Given the description of an element on the screen output the (x, y) to click on. 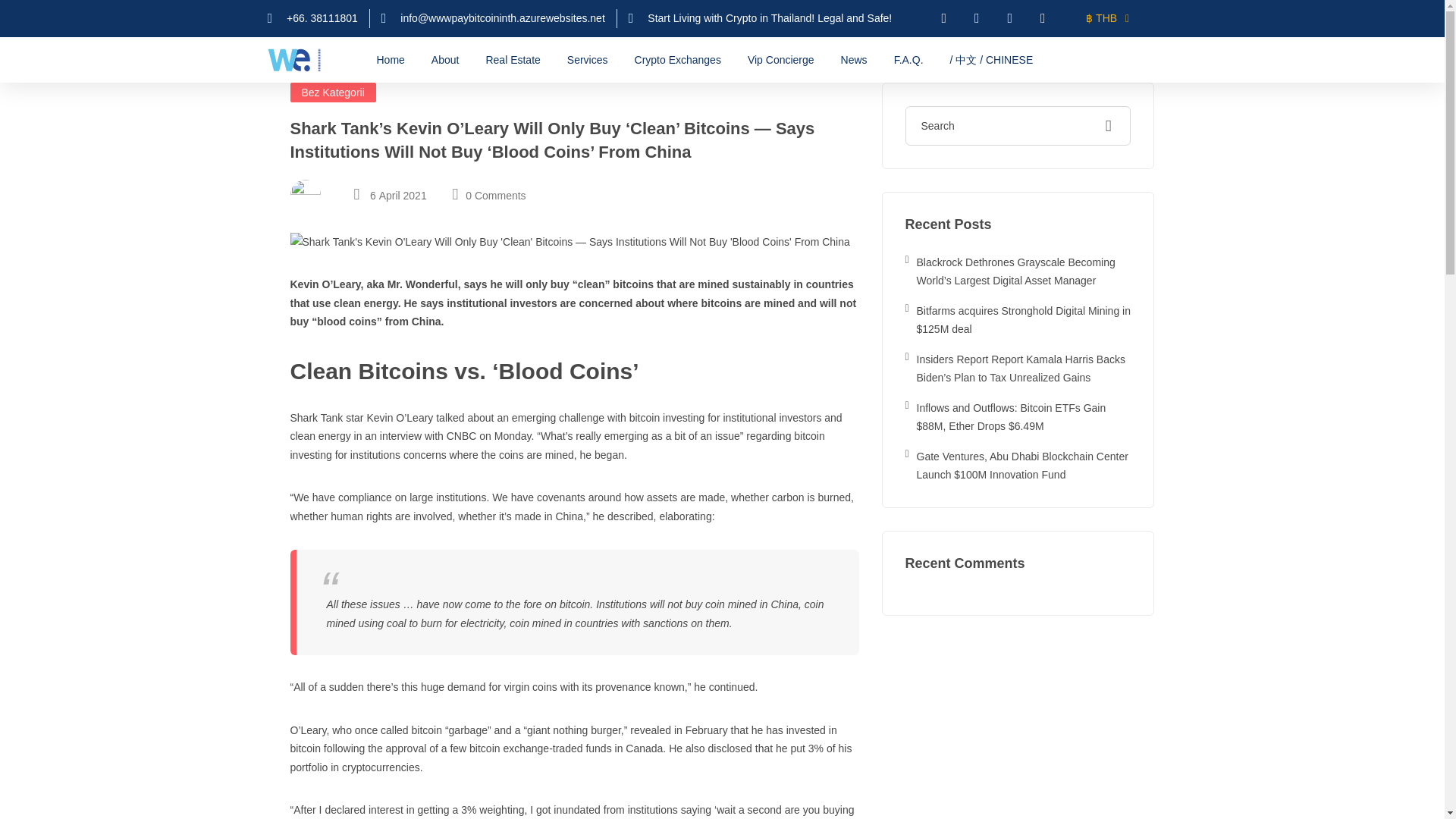
Crypto Exchanges (677, 59)
Services (587, 59)
Real Estate (512, 59)
